Given the description of an element on the screen output the (x, y) to click on. 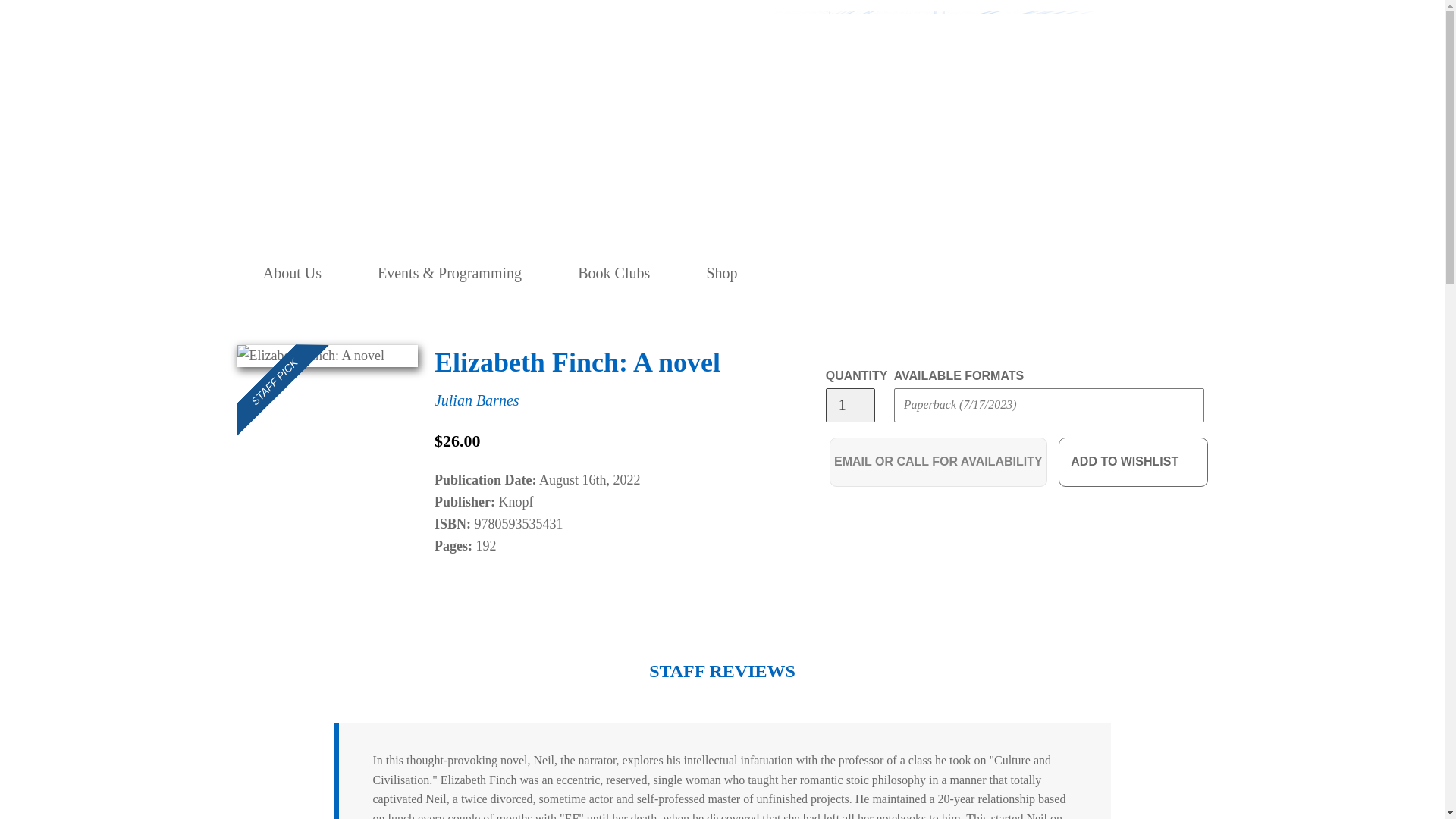
1 (850, 405)
Wishlist (1055, 272)
Submit (1169, 181)
Log in (1022, 272)
About Us (292, 273)
SEARCH (989, 272)
Log in (1022, 272)
Cart (1088, 272)
Wishlists (1055, 272)
